Given the description of an element on the screen output the (x, y) to click on. 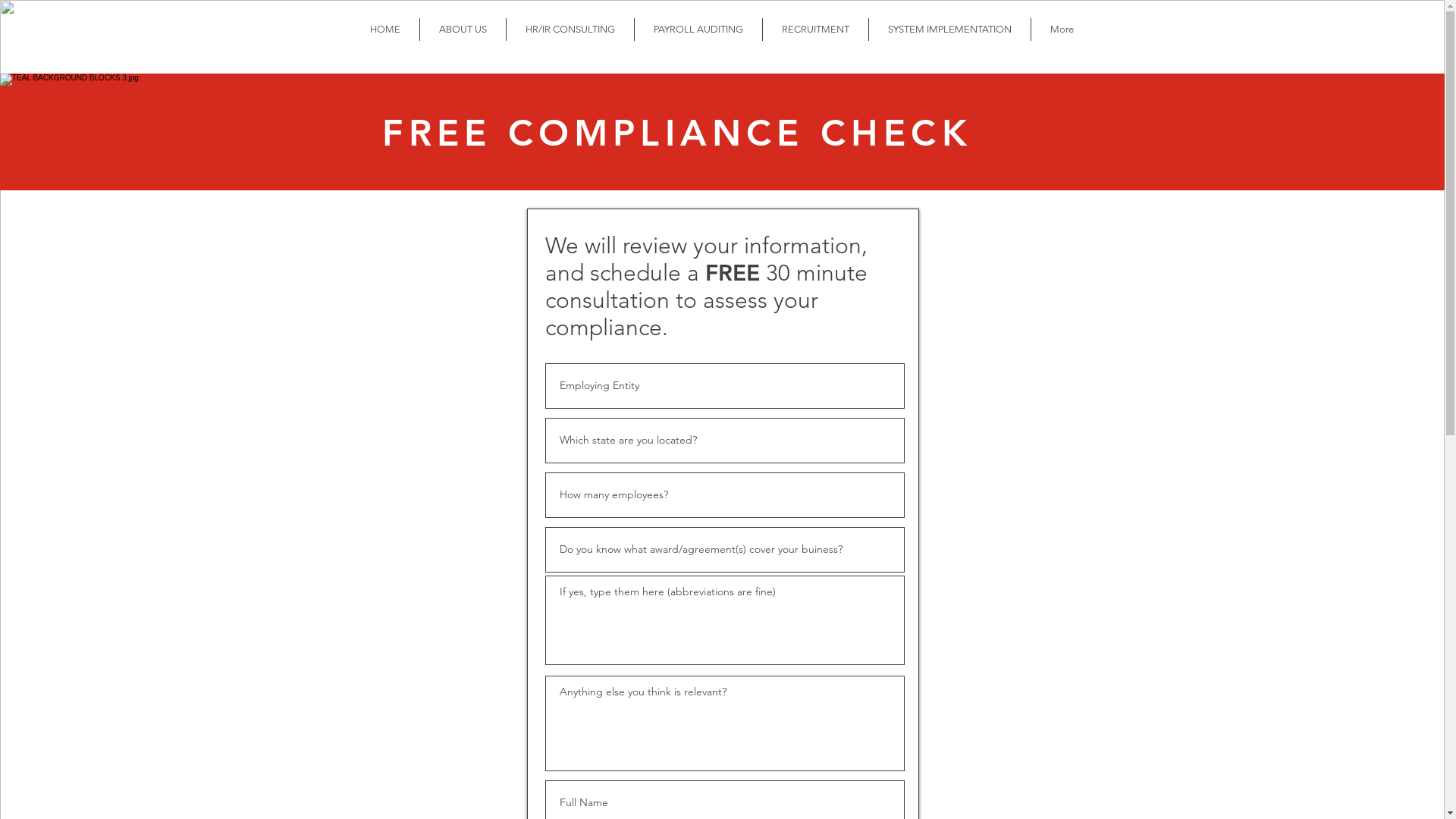
ABOUT US Element type: text (462, 29)
SYSTEM IMPLEMENTATION Element type: text (949, 29)
PAYROLL AUDITING Element type: text (697, 29)
HR/IR CONSULTING Element type: text (569, 29)
HOME Element type: text (384, 29)
RECRUITMENT Element type: text (815, 29)
